Given the description of an element on the screen output the (x, y) to click on. 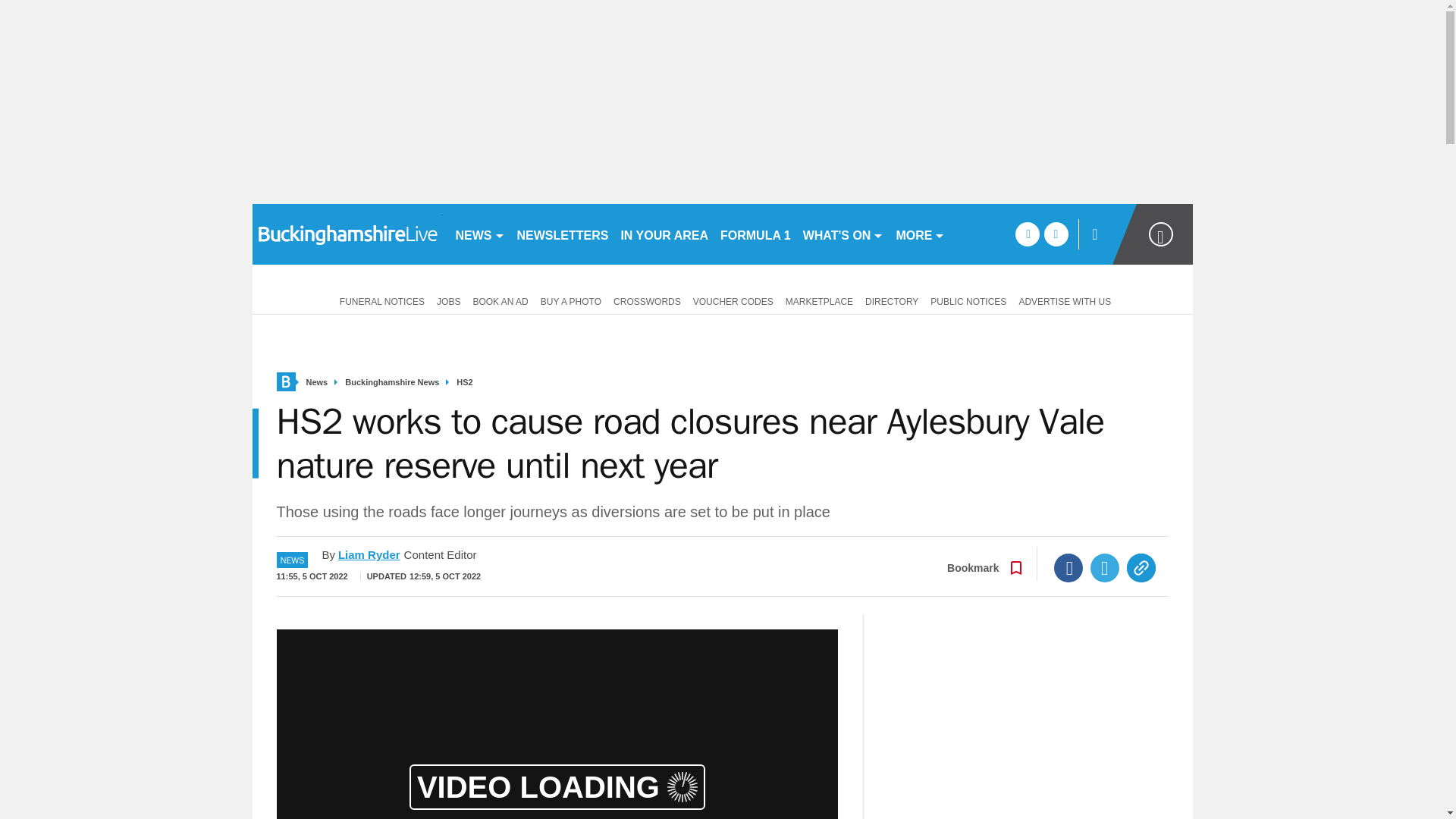
Buckinghamshire News (392, 382)
buckinghamshirelive (346, 233)
JOBS (447, 300)
twitter (1055, 233)
NEWS (479, 233)
facebook (1026, 233)
Twitter (1104, 567)
VOUCHER CODES (732, 300)
HS2 (464, 382)
MARKETPLACE (818, 300)
